Given the description of an element on the screen output the (x, y) to click on. 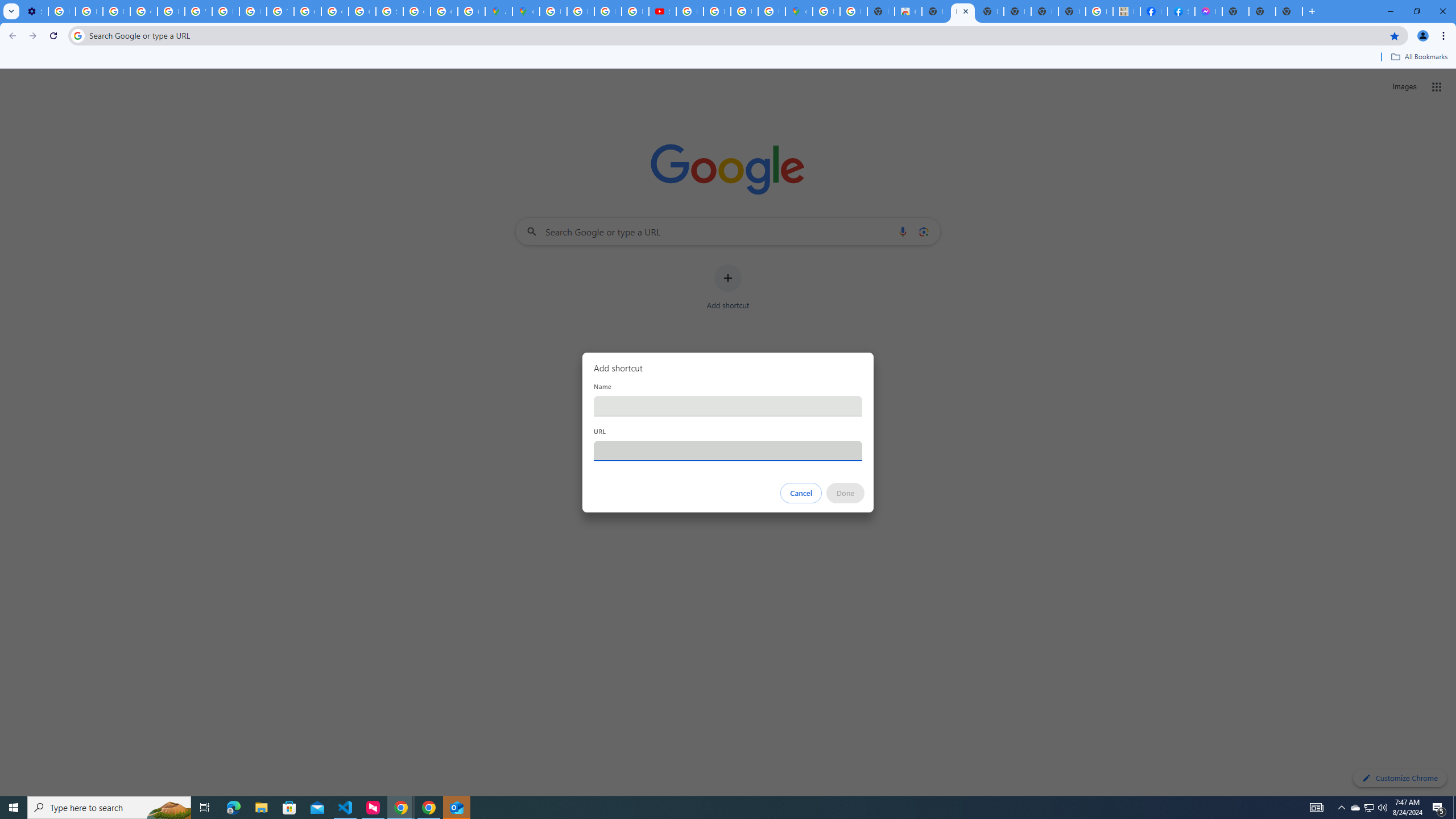
Delete photos & videos - Computer - Google Photos Help (61, 11)
Google Account Help (144, 11)
Google Maps (525, 11)
Learn how to find your photos - Google Photos Help (88, 11)
Privacy Help Center - Policies Help (607, 11)
Sign Up for Facebook (1180, 11)
